Given the description of an element on the screen output the (x, y) to click on. 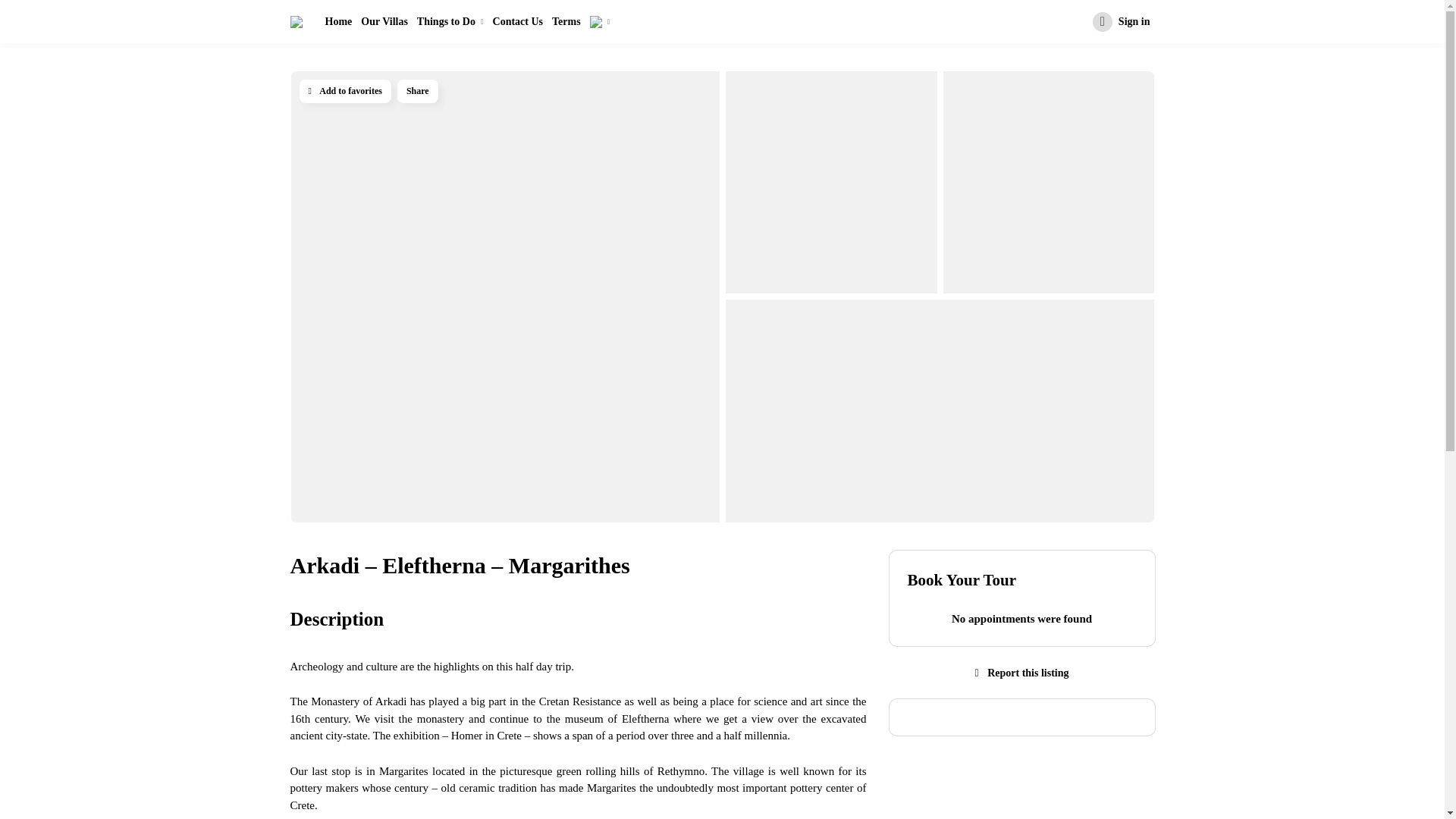
Add to favorites (344, 91)
Contact Us (517, 21)
Our Villas (384, 21)
Share (417, 91)
Home (338, 21)
Report this listing (1021, 672)
Sign in (1120, 21)
Terms (566, 21)
Things to Do (449, 21)
